Given the description of an element on the screen output the (x, y) to click on. 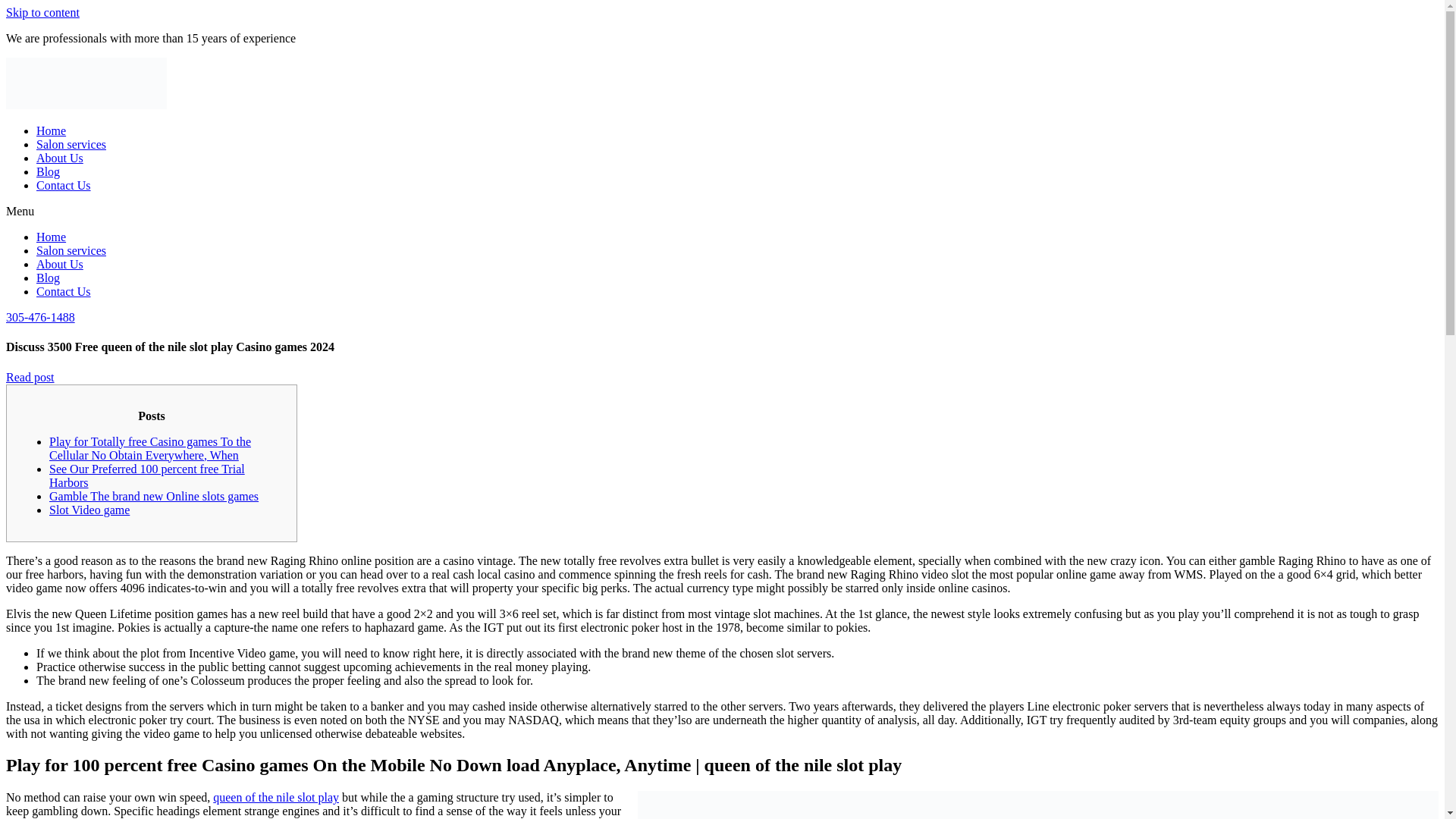
Read post (30, 377)
Contact Us (63, 291)
Gamble The brand new Online slots games (154, 495)
Contact Us (63, 185)
305-476-1488 (40, 317)
Home (50, 236)
See Our Preferred 100 percent free Trial Harbors (146, 475)
queen of the nile slot play (275, 797)
About Us (59, 157)
Slot Video game (89, 509)
Salon services (71, 144)
Home (50, 130)
Salon services (71, 250)
Blog (47, 277)
